Given the description of an element on the screen output the (x, y) to click on. 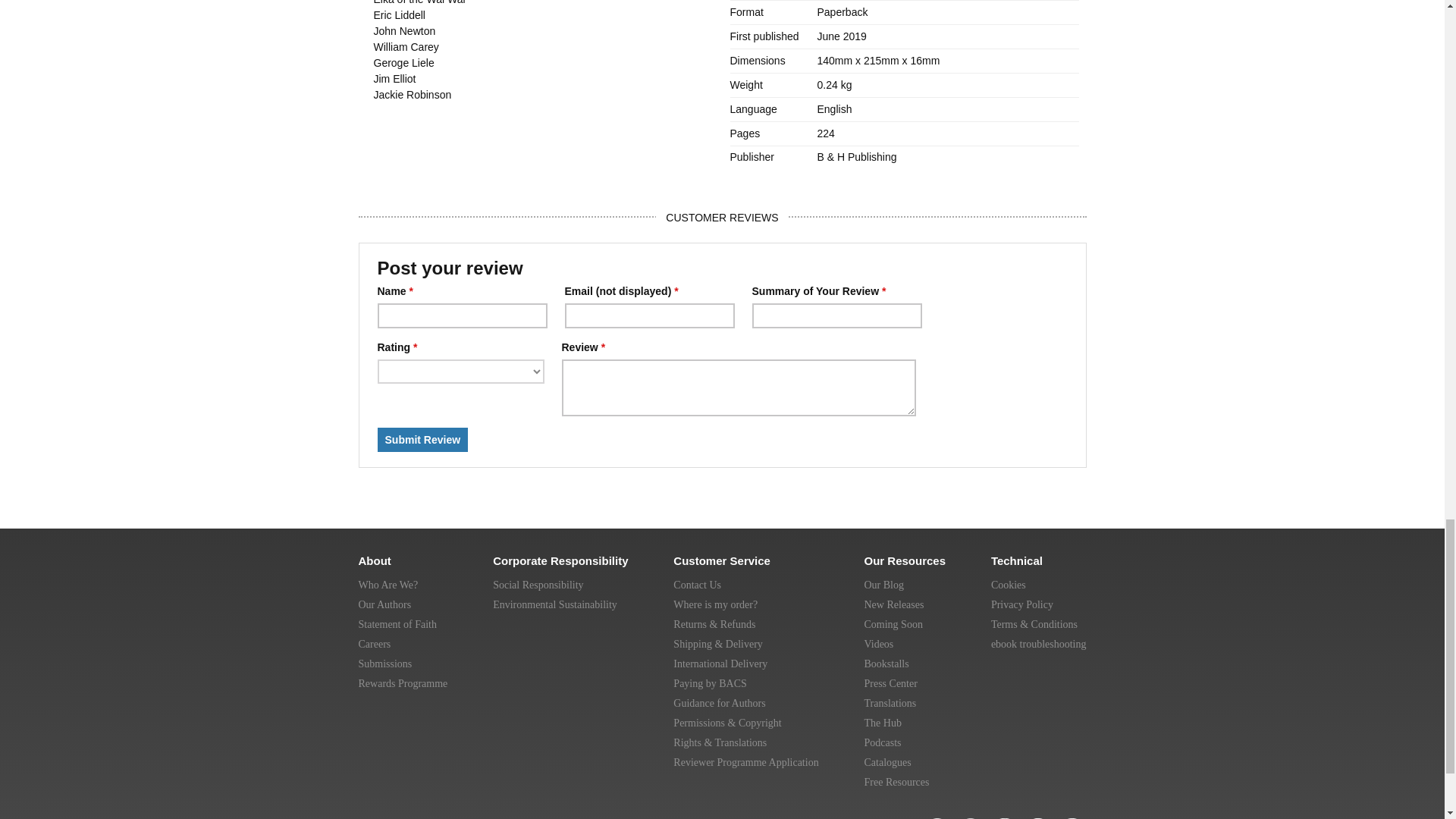
Submit Review (422, 439)
